Given the description of an element on the screen output the (x, y) to click on. 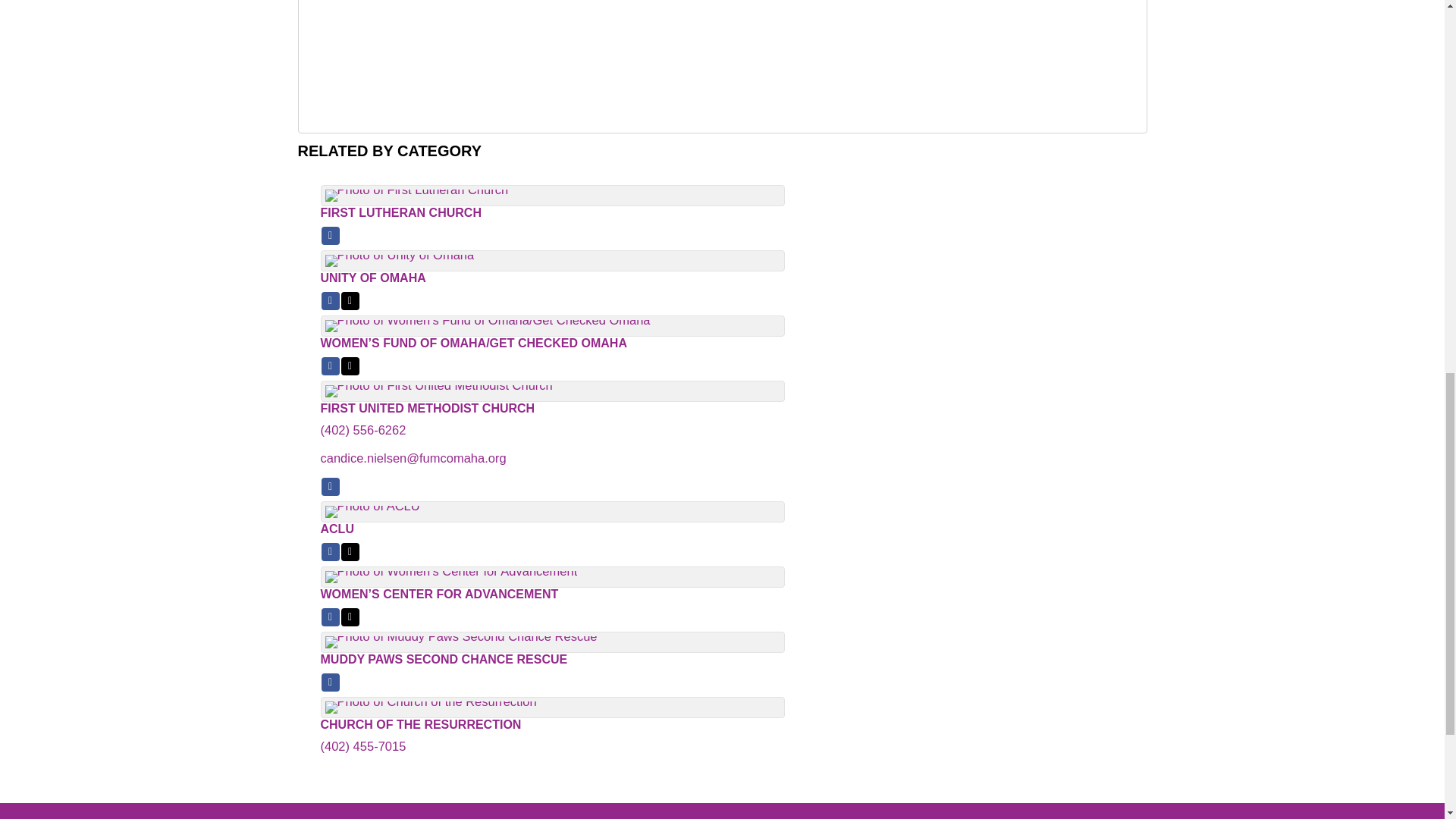
Unity of Omaha (722, 278)
Photo of Unity of Omaha (399, 260)
Photo of First Lutheran Church (416, 195)
First Lutheran Church (722, 213)
